Given the description of an element on the screen output the (x, y) to click on. 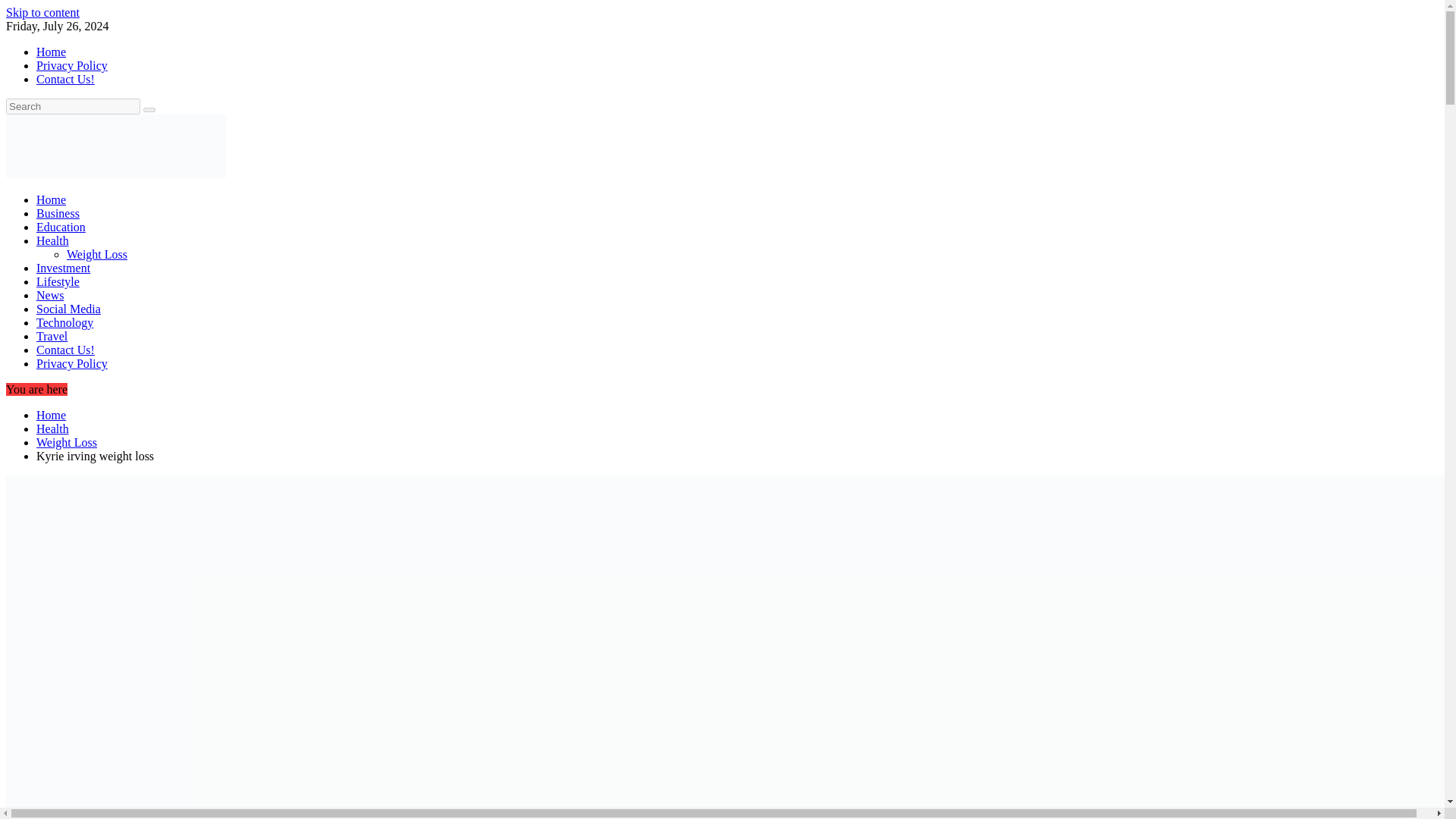
Lifestyle (58, 281)
Home (50, 414)
Weight Loss (97, 254)
Health (52, 240)
Investment (63, 267)
Skip to content (42, 11)
Privacy Policy (71, 363)
Business (58, 213)
link (42, 11)
Home (50, 199)
Weight Loss (66, 441)
Contact Us! (65, 349)
Health (52, 428)
Education (60, 226)
Social Media (68, 308)
